Given the description of an element on the screen output the (x, y) to click on. 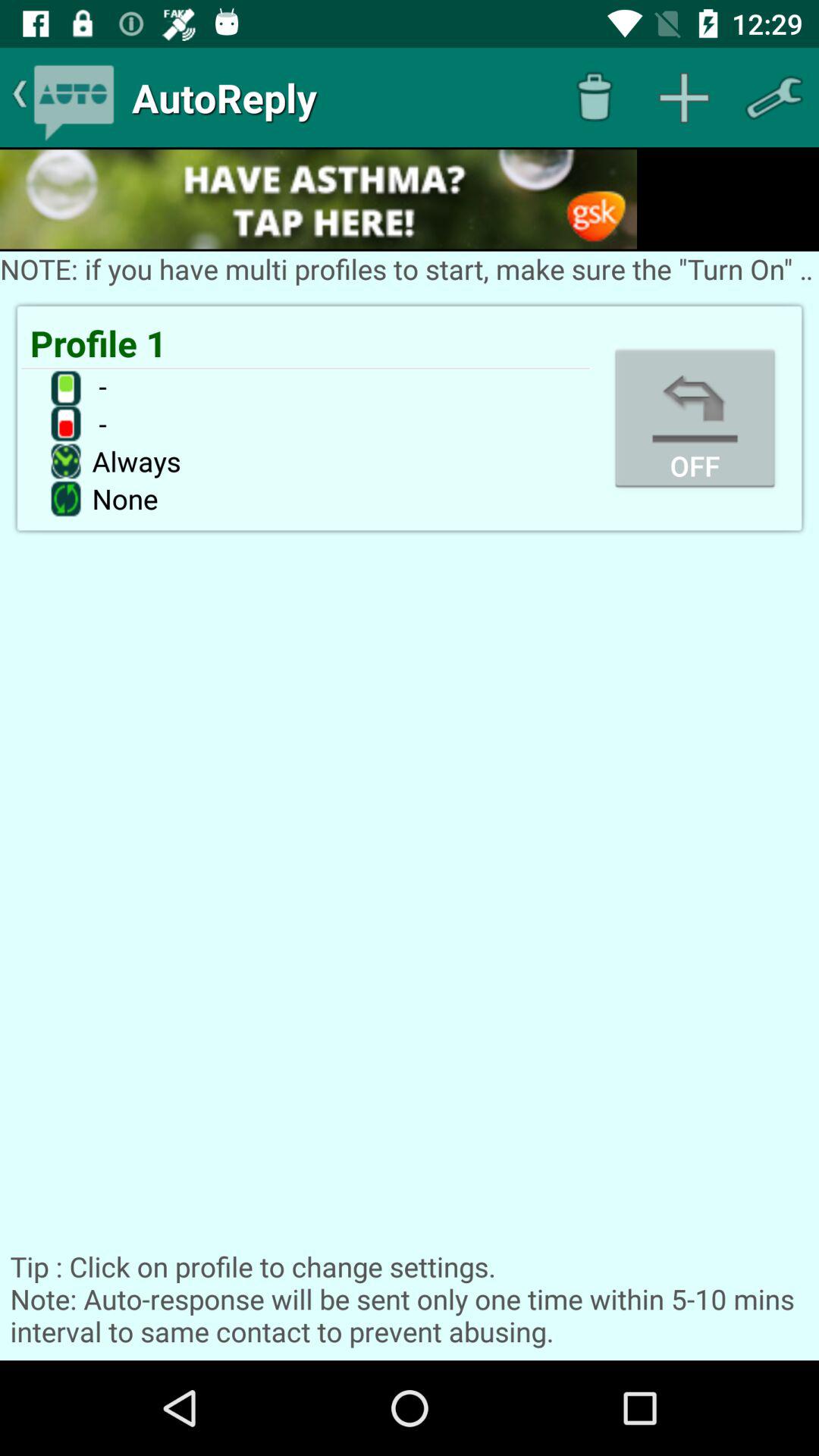
go to setting menu (774, 97)
